Given the description of an element on the screen output the (x, y) to click on. 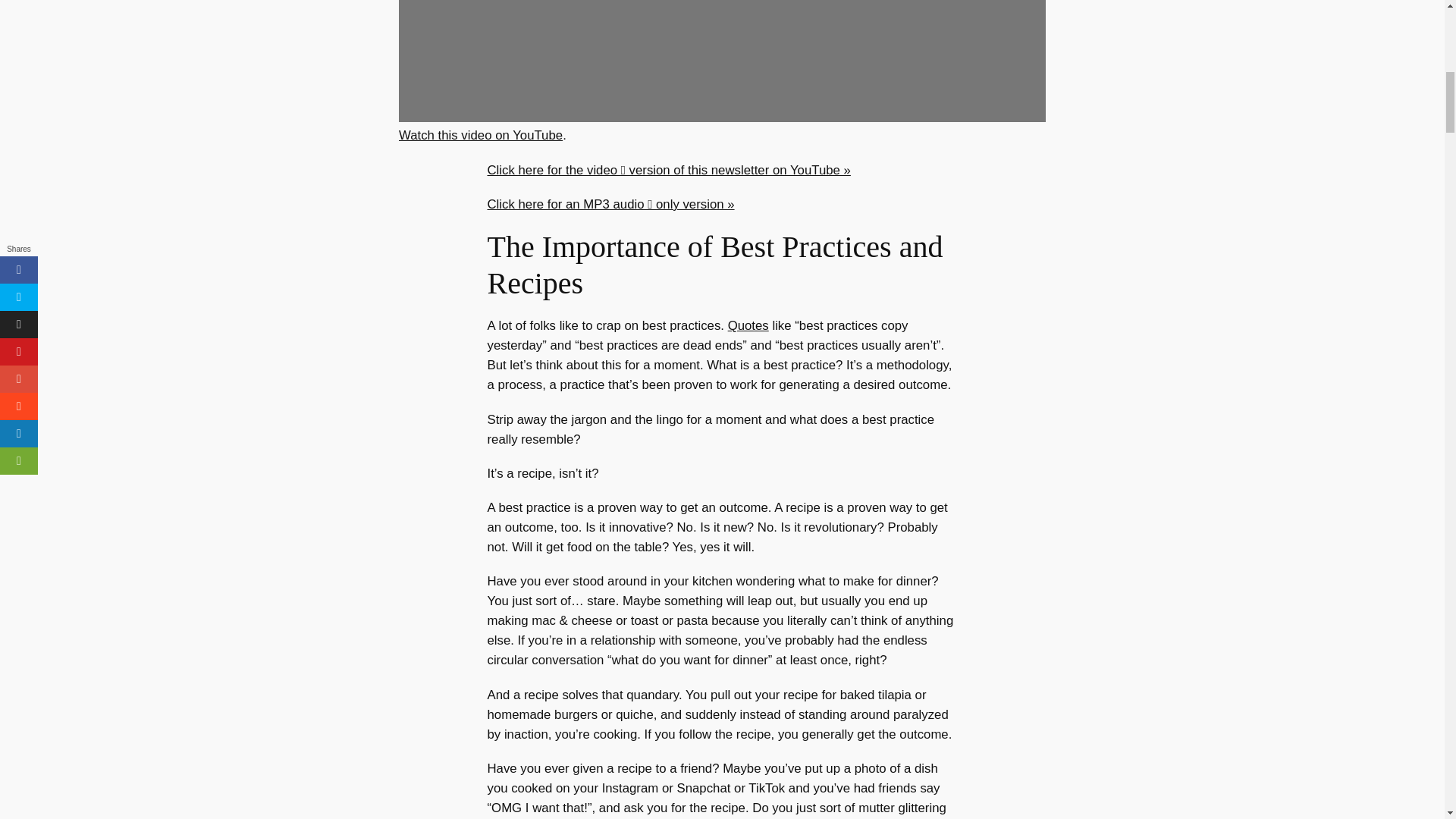
Quotes (748, 325)
Watch this video on YouTube (480, 134)
